Given the description of an element on the screen output the (x, y) to click on. 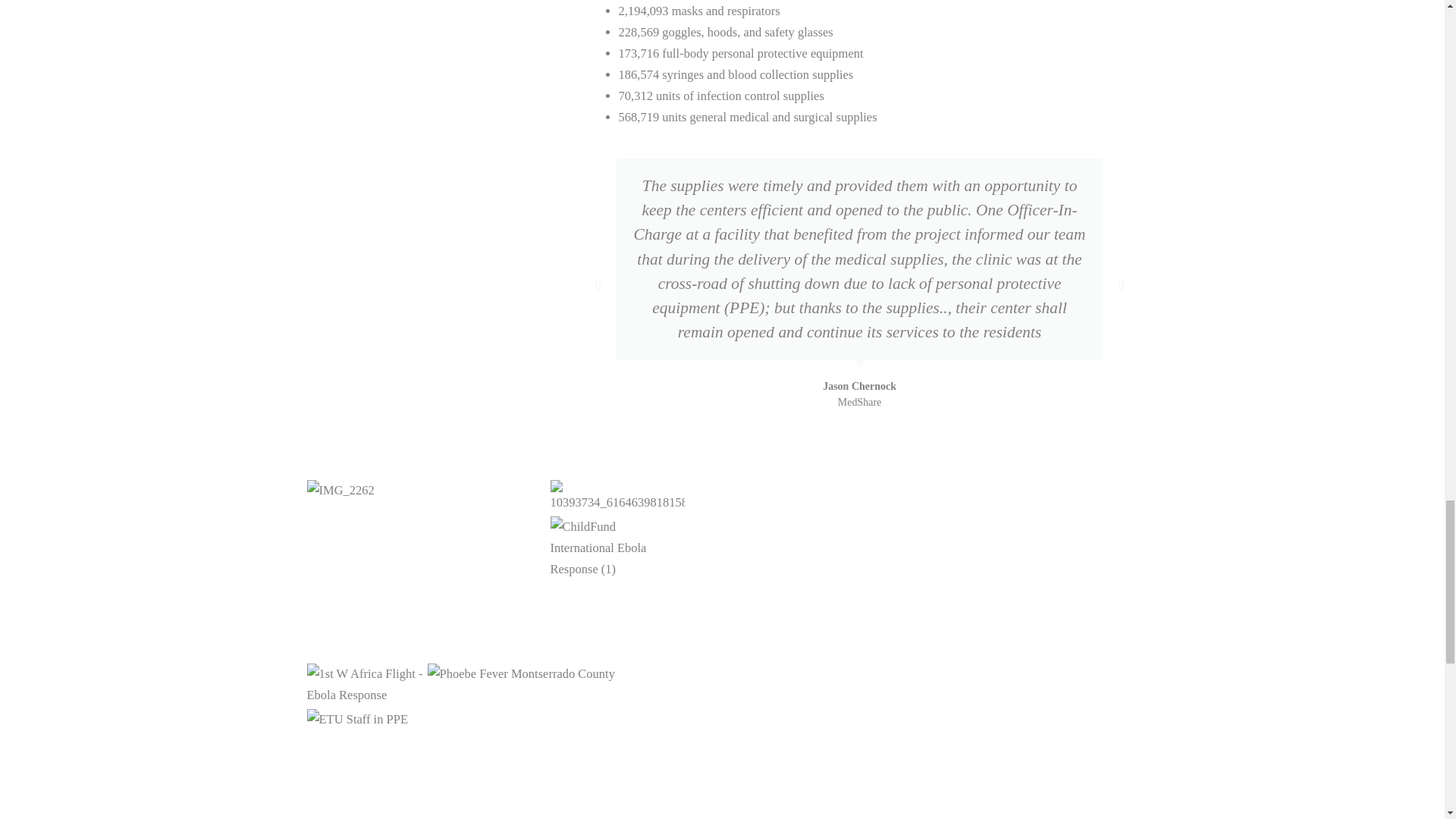
Phoebe Fever Montserrado County (521, 673)
1st W Africa Flight - Ebola Response (364, 684)
ETU Staff in PPE (356, 719)
